Given the description of an element on the screen output the (x, y) to click on. 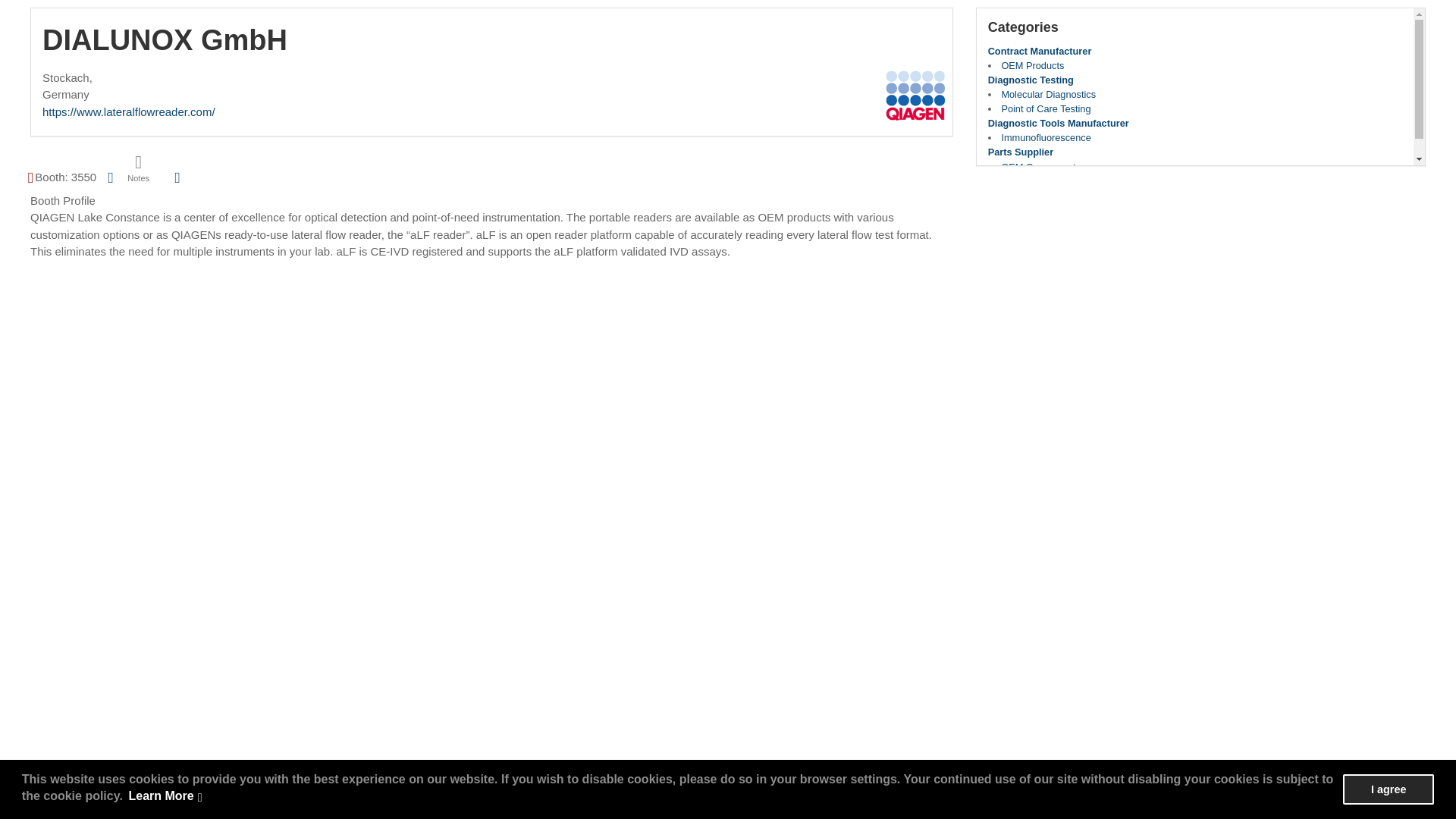
Molecular Diagnostics (1048, 93)
OEM Products (1032, 65)
Print (110, 176)
Diagnostic Tools Manufacturer (1058, 122)
Add To My Exhibitors (177, 177)
OEM Components (1040, 166)
Diagnostic Testing (1031, 79)
Parts Supplier (1020, 152)
Point of Care Testing (1045, 108)
Contract Manufacturer (1040, 50)
